Given the description of an element on the screen output the (x, y) to click on. 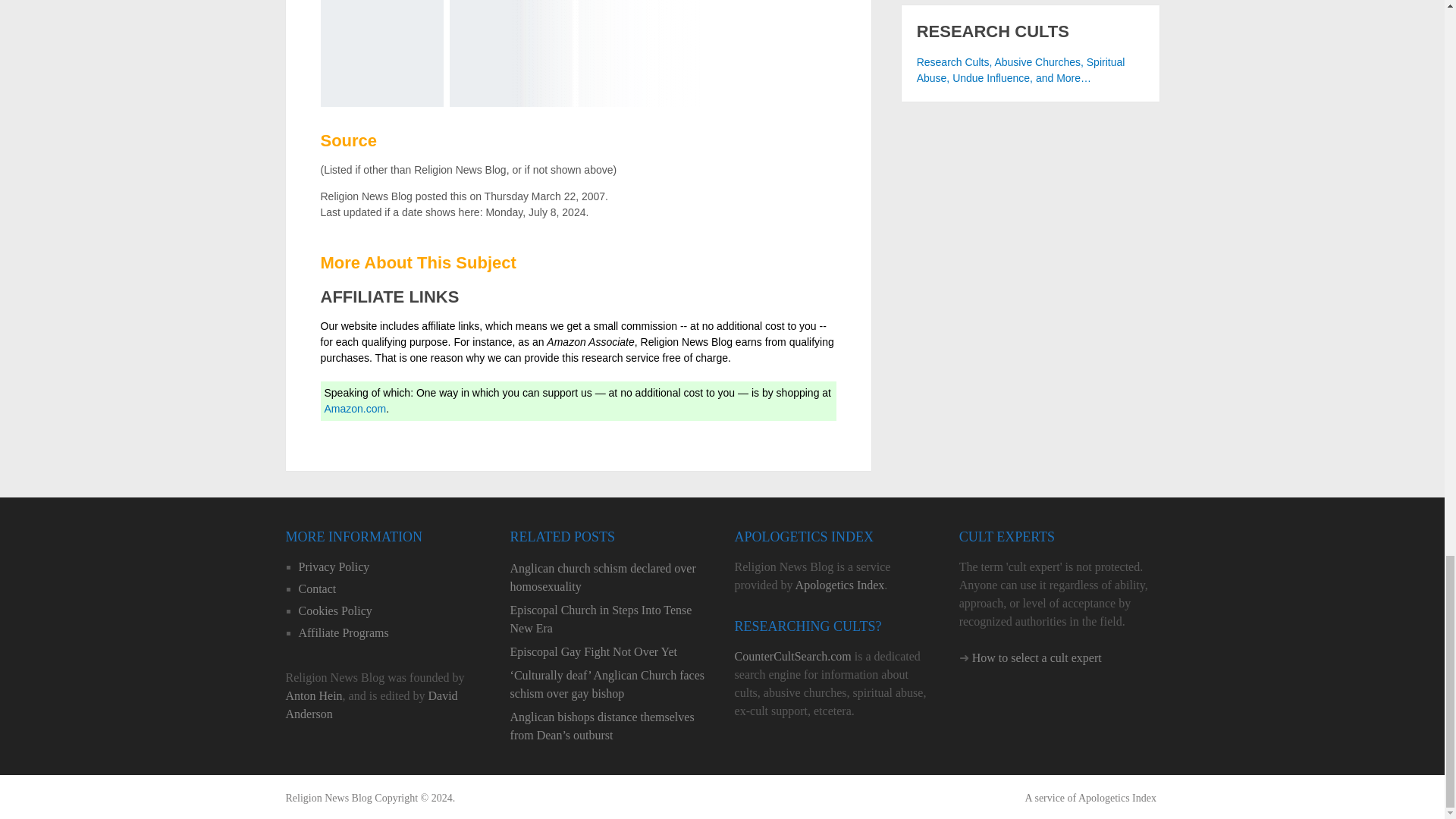
Episcopal Church in Steps Into Tense New Era (610, 619)
Anglican church schism declared over homosexuality (610, 577)
GetYourGuide Widget (510, 53)
Episcopal Gay Fight Not Over Yet (610, 651)
 Religion news: religious cults, sects, and world religions (328, 797)
Amazon.com (355, 408)
